Given the description of an element on the screen output the (x, y) to click on. 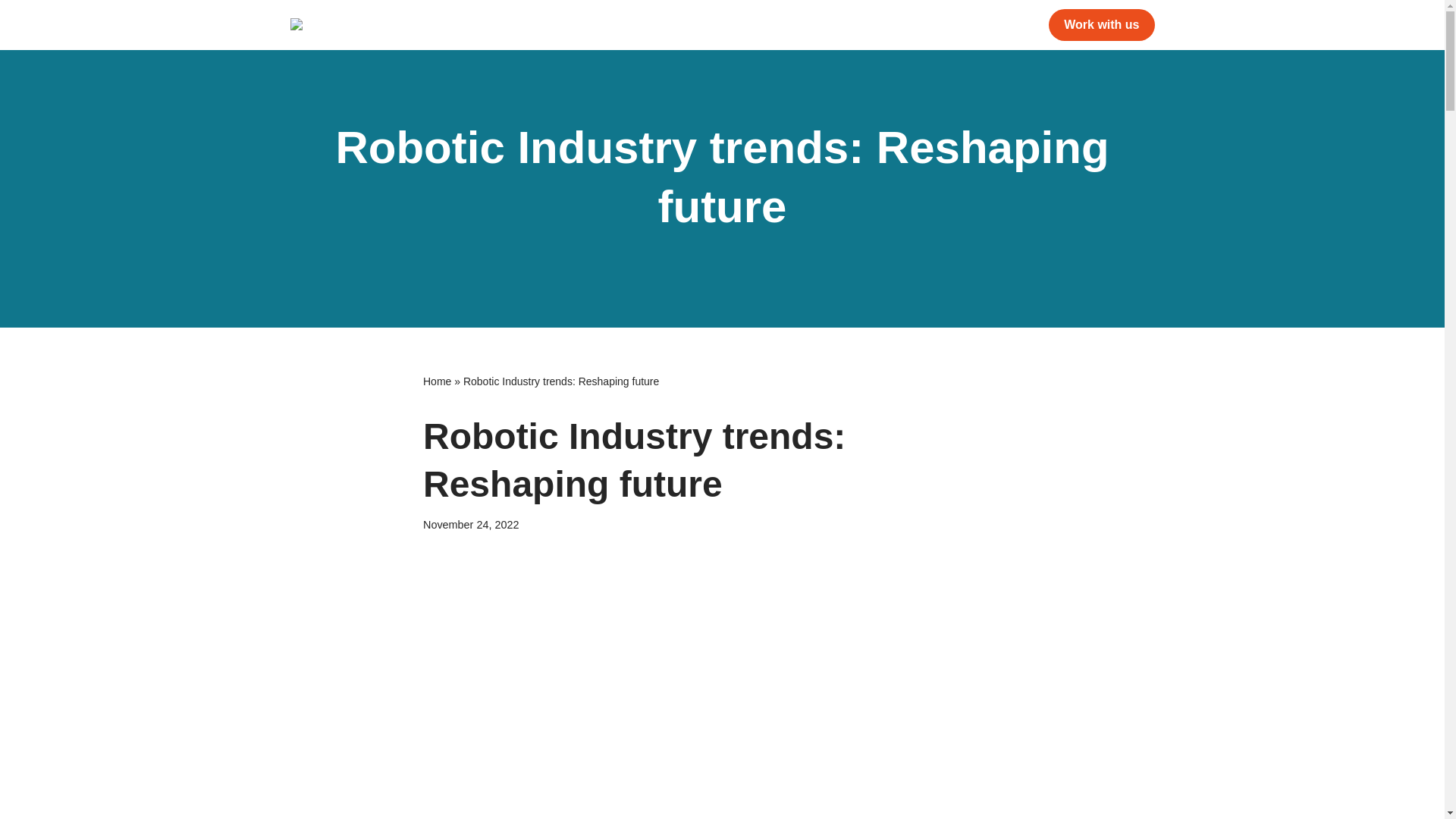
Home (437, 381)
Skip to content (11, 31)
Work with us (1101, 24)
Navigation Menu (1418, 18)
